Given the description of an element on the screen output the (x, y) to click on. 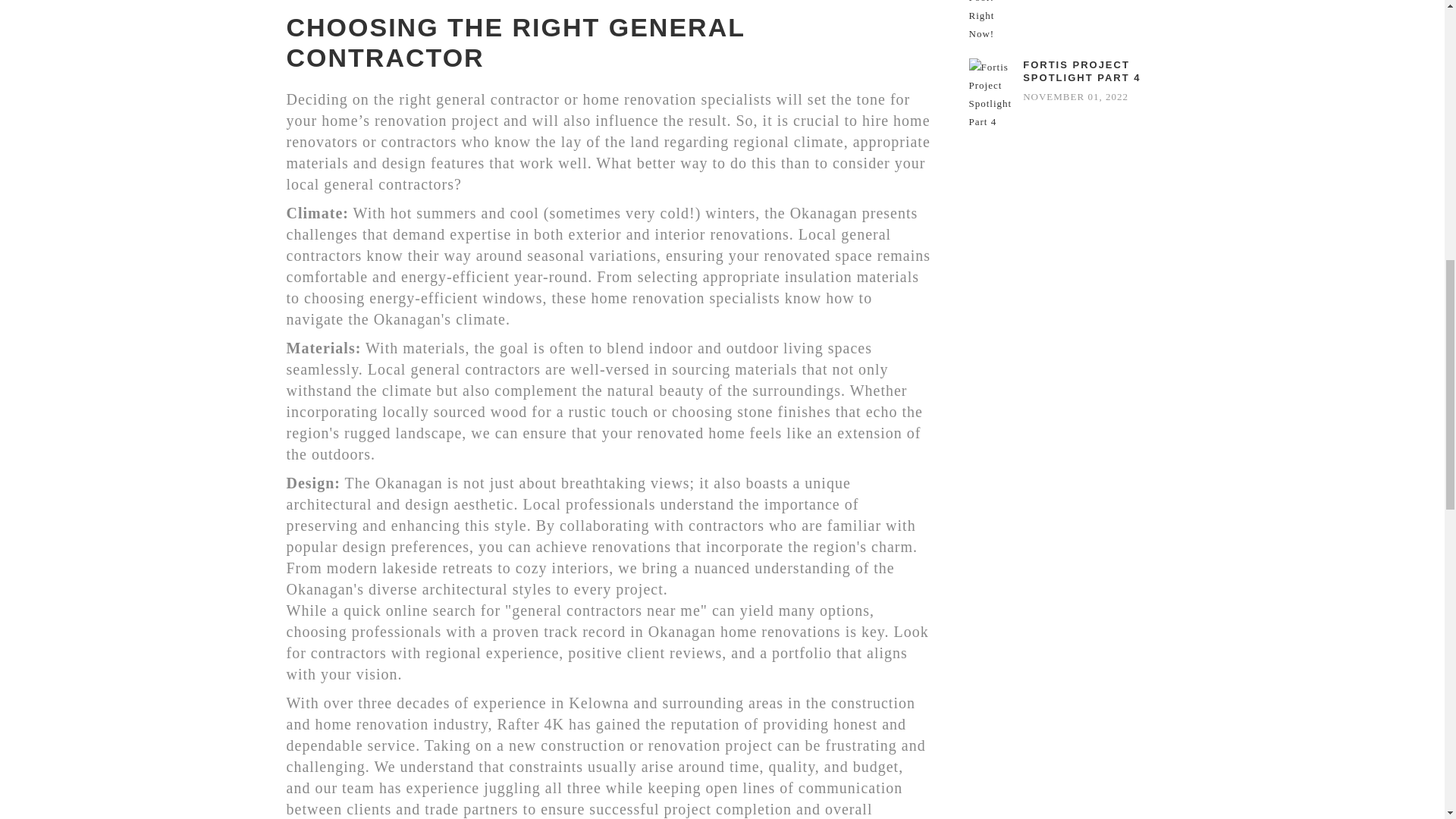
FORTIS PROJECT SPOTLIGHT PART 4 (1090, 71)
